Given the description of an element on the screen output the (x, y) to click on. 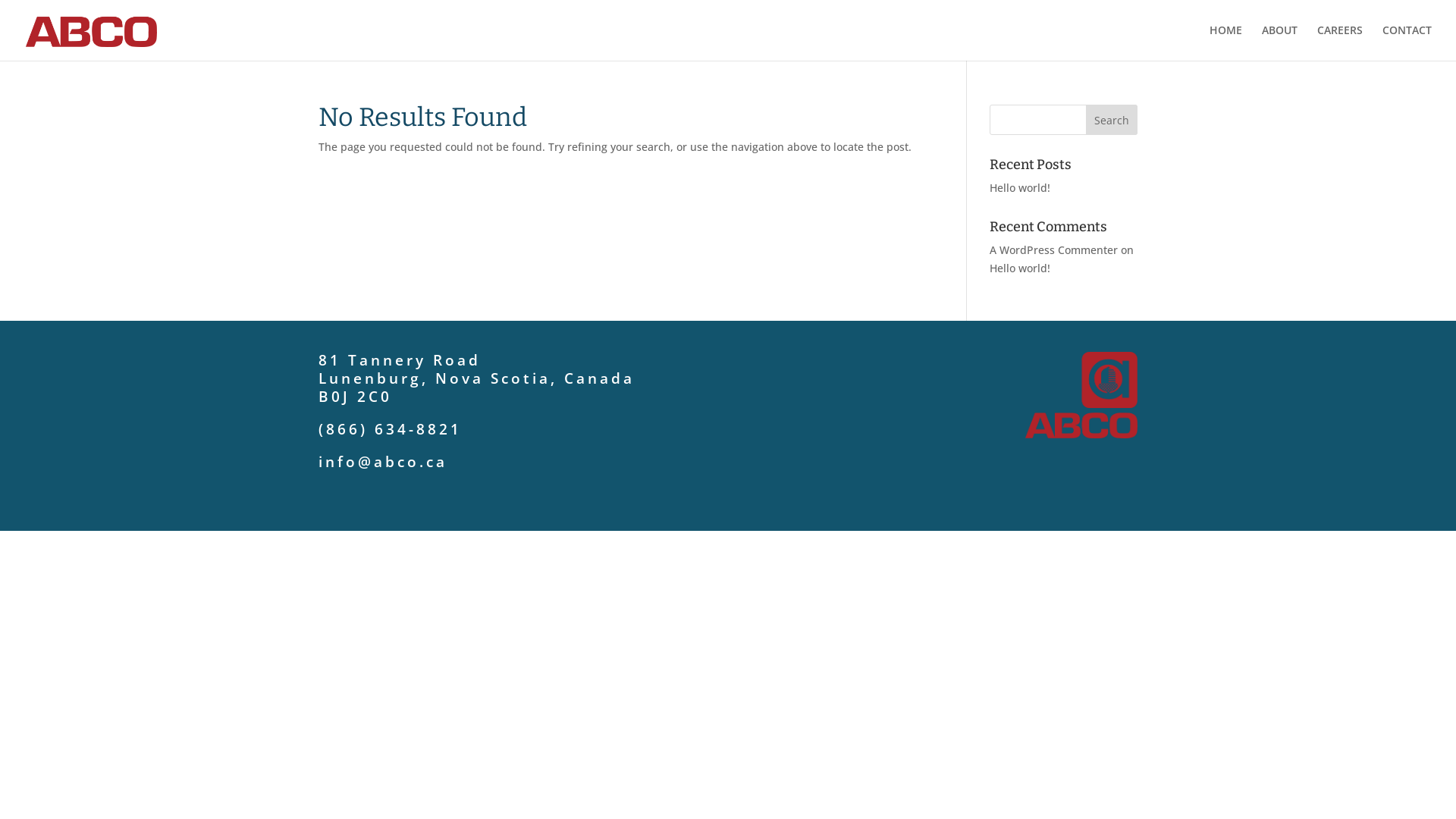
Hello world! Element type: text (1019, 187)
ABCO-Logo-Colour Element type: hover (1081, 394)
Hello world! Element type: text (1019, 267)
CONTACT Element type: text (1406, 42)
HOME Element type: text (1225, 42)
A WordPress Commenter Element type: text (1053, 249)
ABOUT Element type: text (1279, 42)
CAREERS Element type: text (1339, 42)
Search Element type: text (1111, 119)
